Given the description of an element on the screen output the (x, y) to click on. 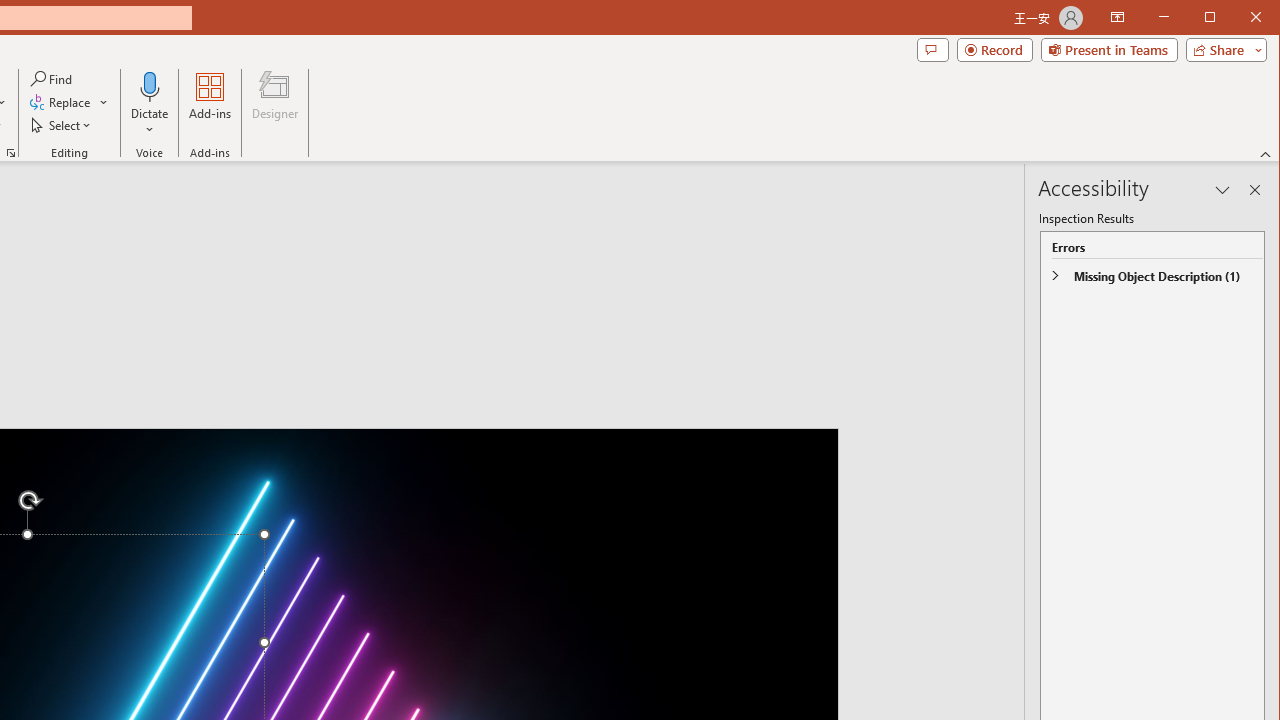
Find... (52, 78)
Select (62, 124)
